Given the description of an element on the screen output the (x, y) to click on. 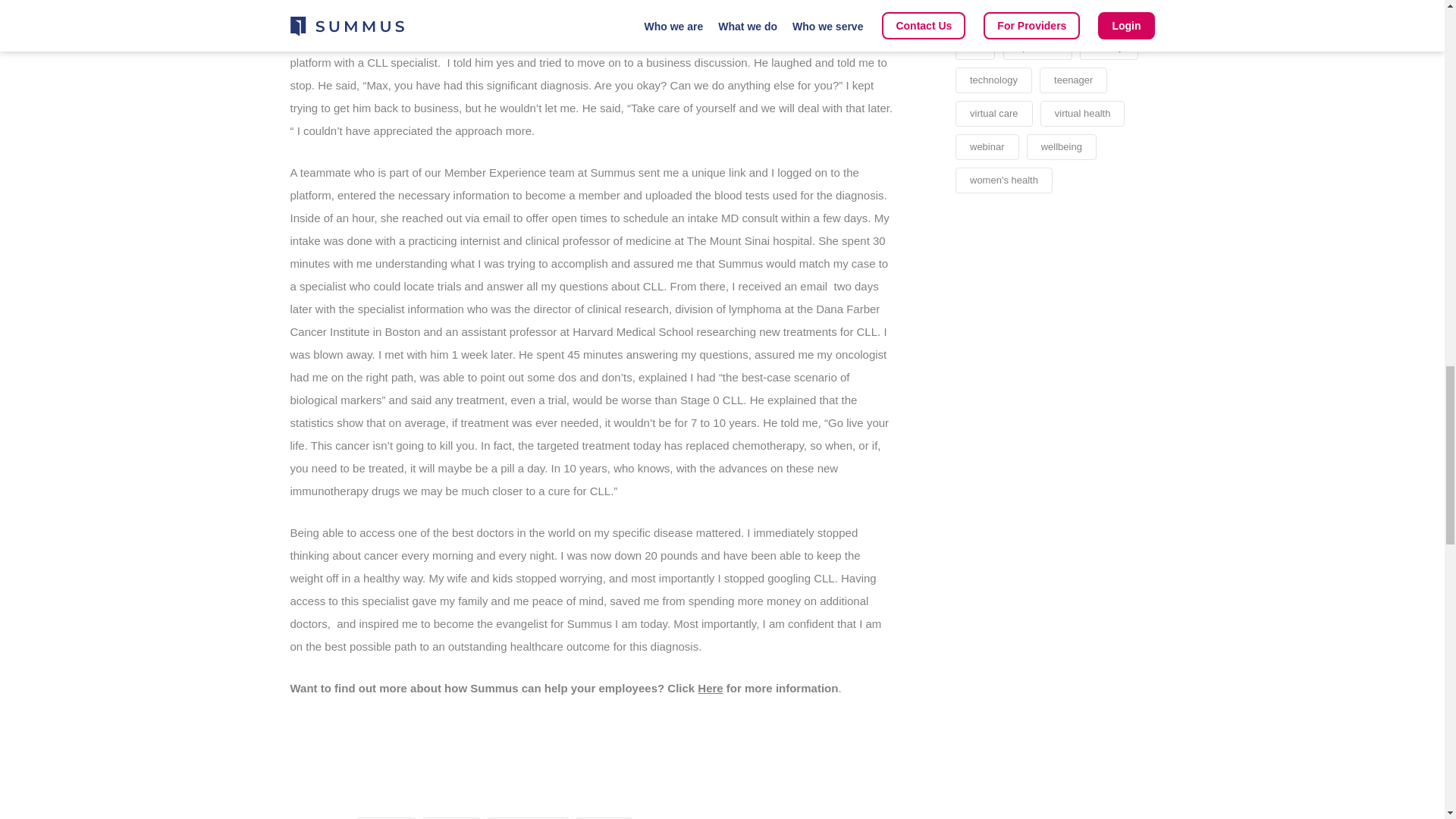
Here (709, 687)
